Given the description of an element on the screen output the (x, y) to click on. 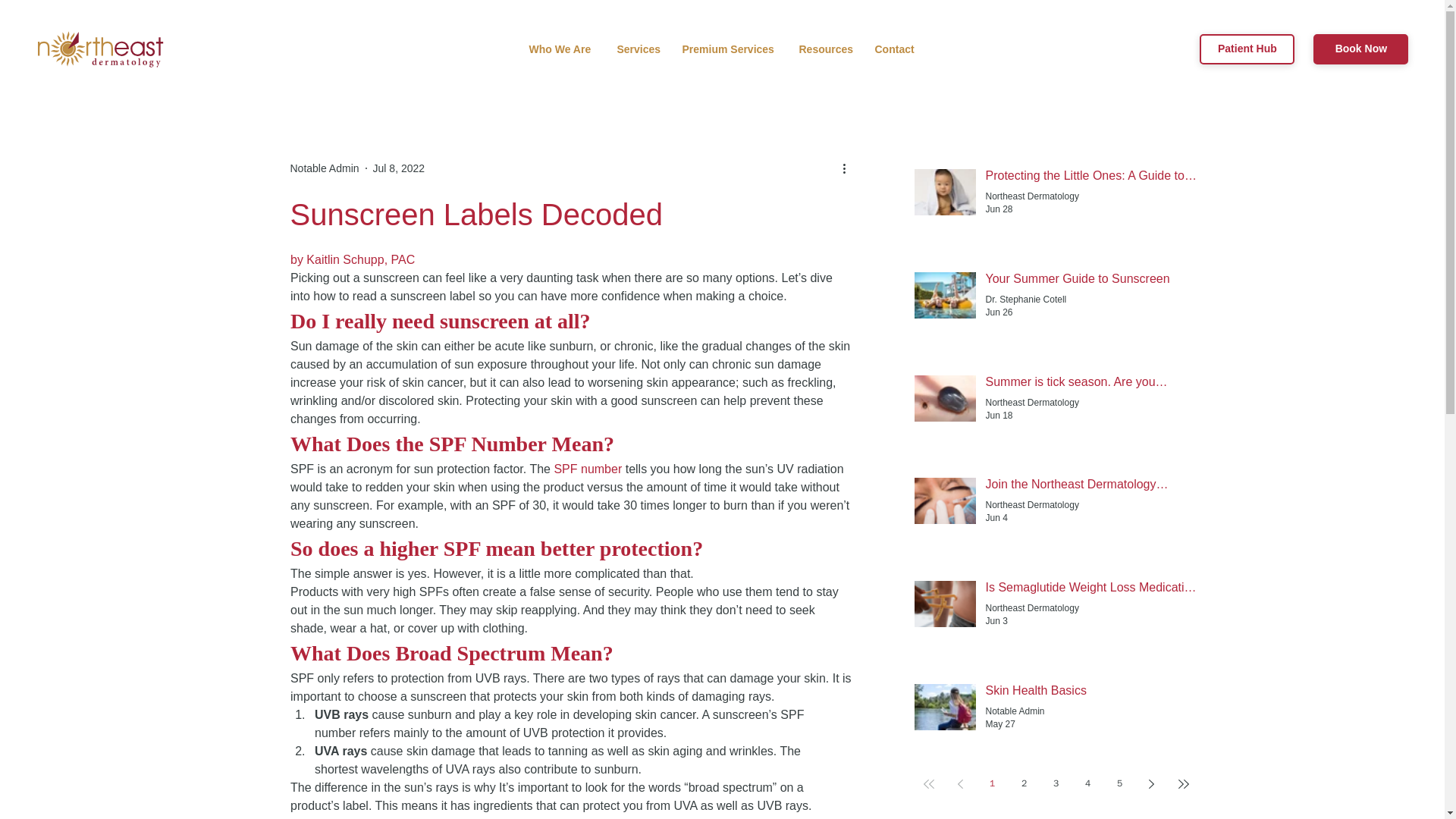
Northeast Dermatology (1031, 196)
Notable Admin (1015, 710)
Northeast Dermatology (1031, 504)
Skin Health Basics (1091, 693)
Jun 28 (999, 208)
Is Semaglutide Weight Loss Medication Right for You? (1091, 590)
Northeast Dermatology (1031, 402)
Jun 3 (996, 620)
Book Now (1360, 49)
Contact (894, 49)
by Kaitlin Schupp, PAC (351, 259)
Northeast Dermatology (1031, 608)
Who We Are (560, 49)
Services (637, 49)
5 (1118, 783)
